Given the description of an element on the screen output the (x, y) to click on. 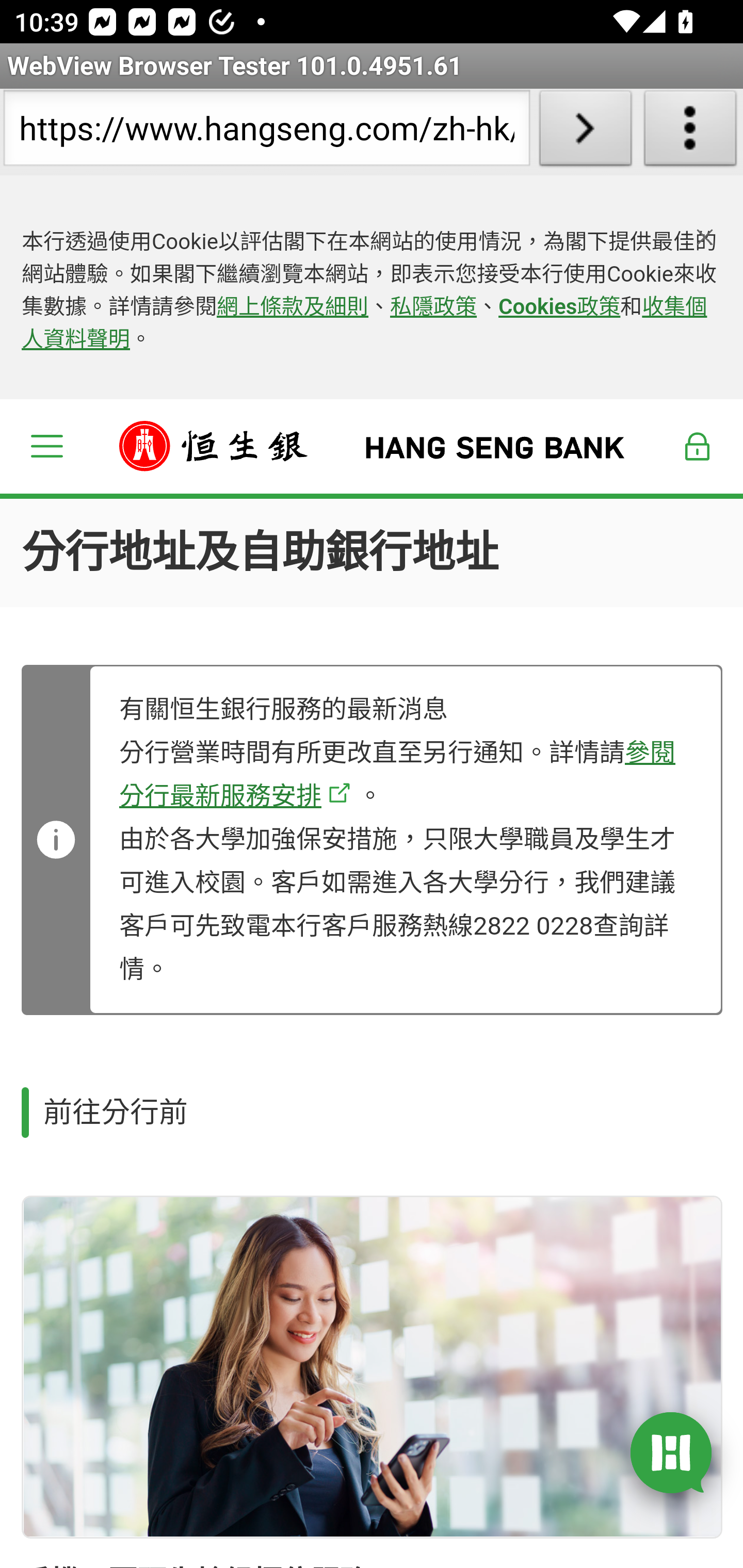
Load URL (585, 132)
About WebView (690, 132)
收集個人資料聲明 (364, 324)
網上條款及細則 (293, 306)
私隱政策 (434, 306)
Cookies政策 (559, 306)
選單 (46, 445)
恒生銀行 (372, 445)
登入 (697, 445)
參閱分行最新服務安排 (於新視窗開啟) 參閱分行最新服務安排 (397, 774)
手機取票預先輪候櫃位服務 了解更多 (371, 1367)
與 HARO 對話 (於新視窗開啟) (670, 1451)
